Given the description of an element on the screen output the (x, y) to click on. 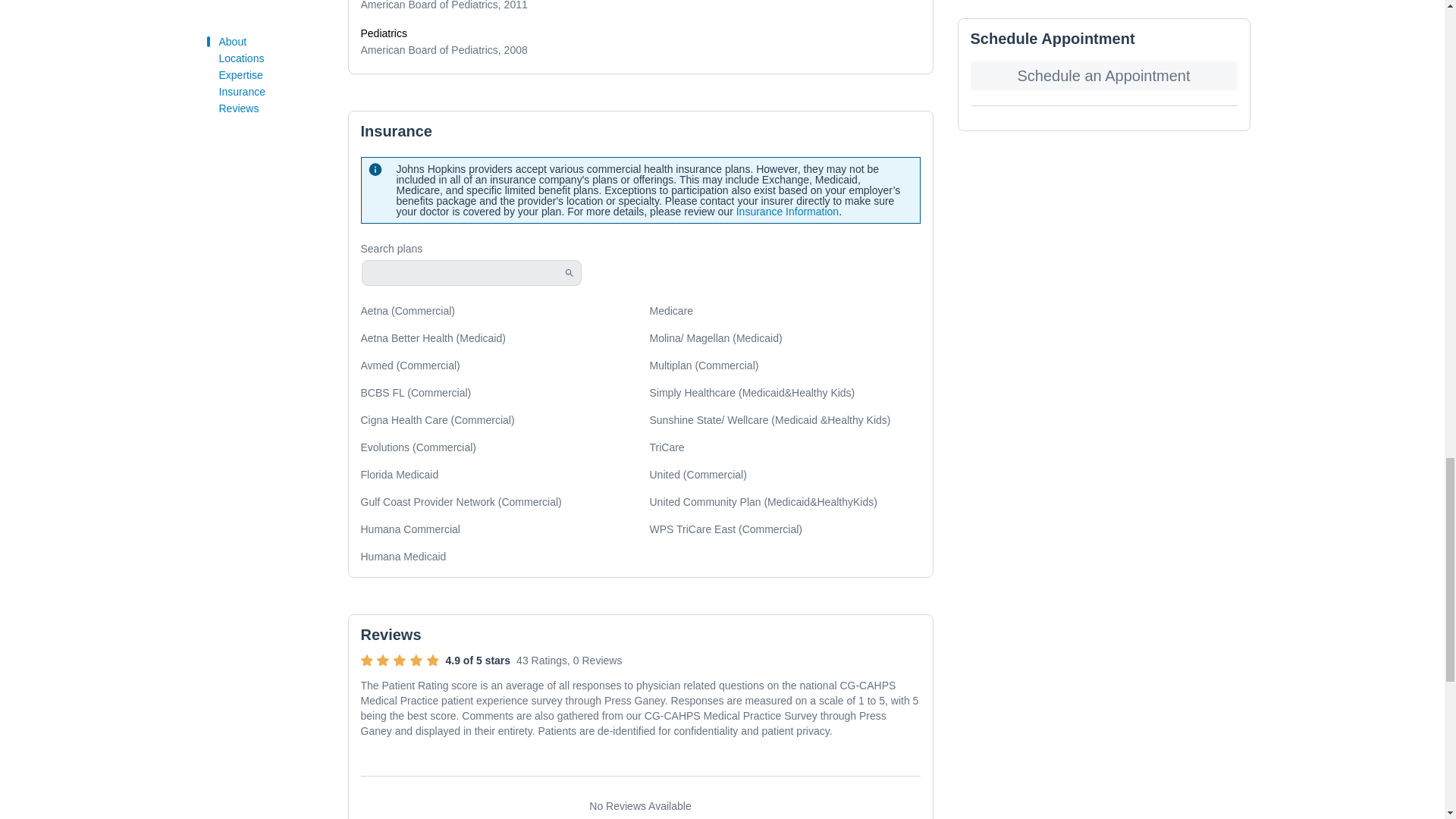
Insurance Information (787, 211)
